Given the description of an element on the screen output the (x, y) to click on. 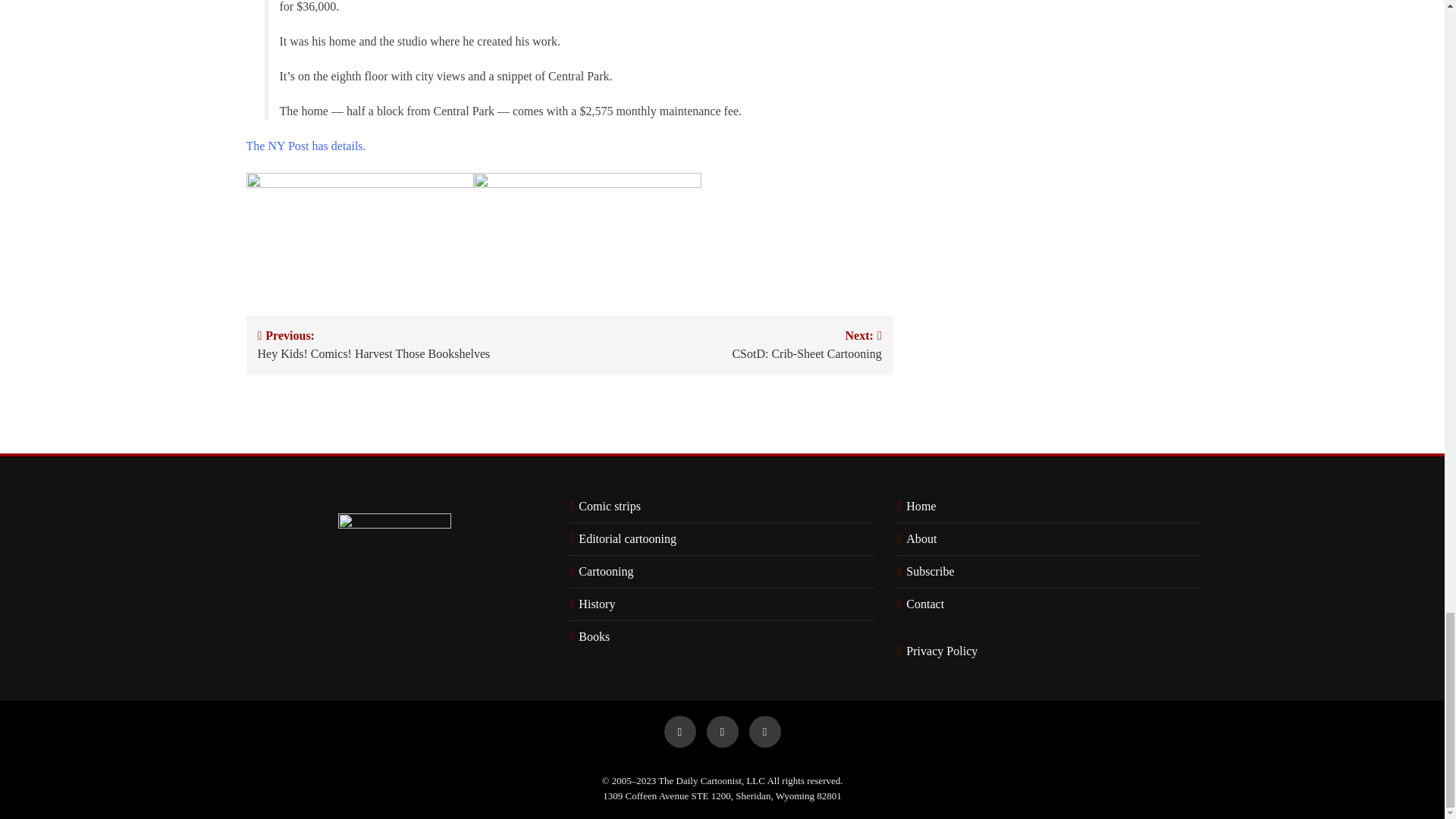
Subscribe to The Daily Cartoonist (927, 571)
